Given the description of an element on the screen output the (x, y) to click on. 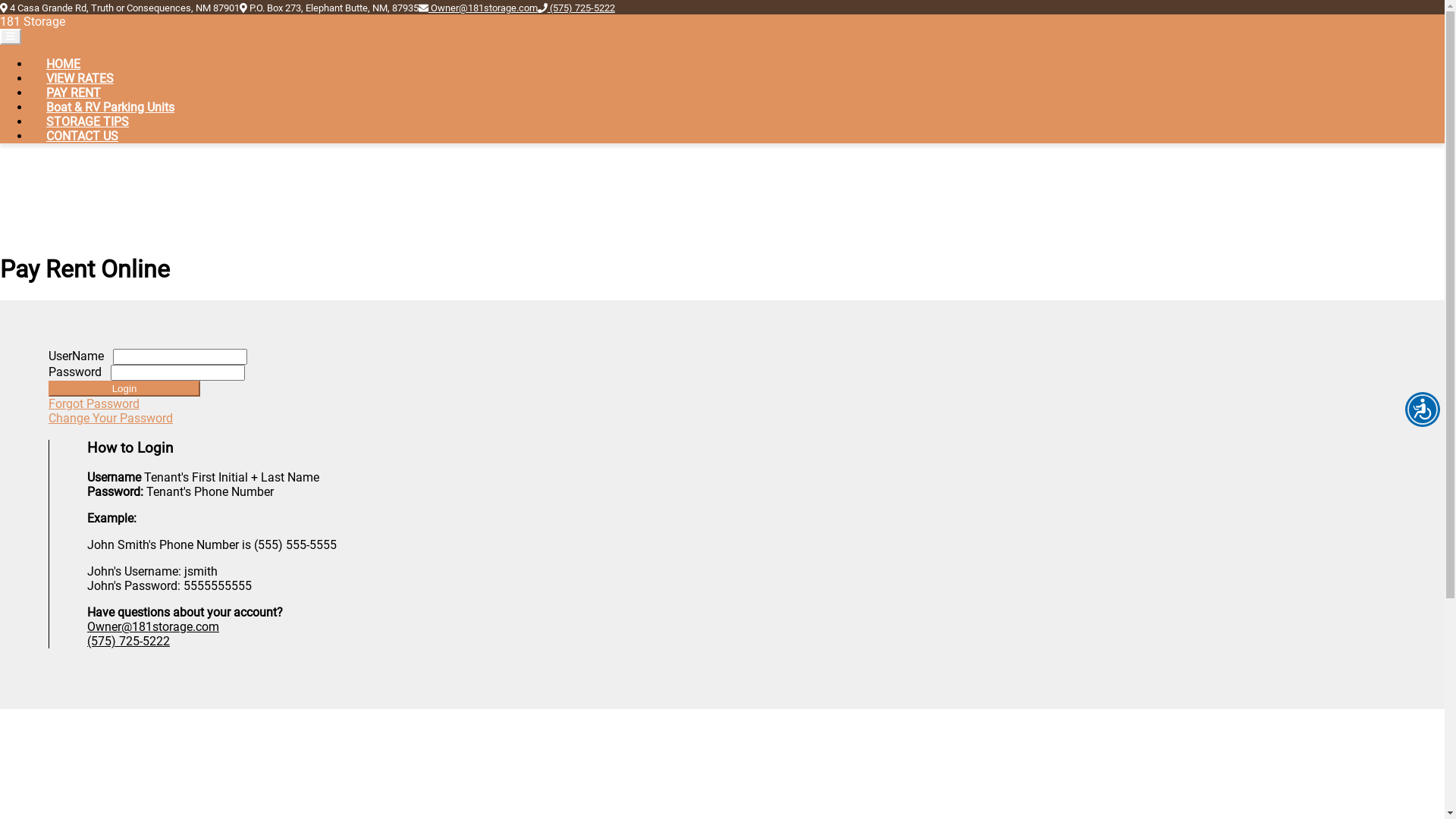
Boat & RV Parking Units Element type: text (110, 107)
181 Storage Element type: text (32, 21)
(575) 725-5222 Element type: text (128, 640)
 Owner@181storage.com Element type: text (482, 7)
Owner@181storage.com Element type: text (153, 626)
VIEW RATES Element type: text (79, 78)
Change Your Password Element type: text (110, 418)
Login Element type: text (124, 388)
Forgot Password Element type: text (93, 403)
PAY RENT Element type: text (73, 92)
CONTACT US Element type: text (82, 135)
STORAGE TIPS Element type: text (87, 121)
HOME Element type: text (63, 63)
 (575) 725-5222 Element type: text (581, 7)
